Given the description of an element on the screen output the (x, y) to click on. 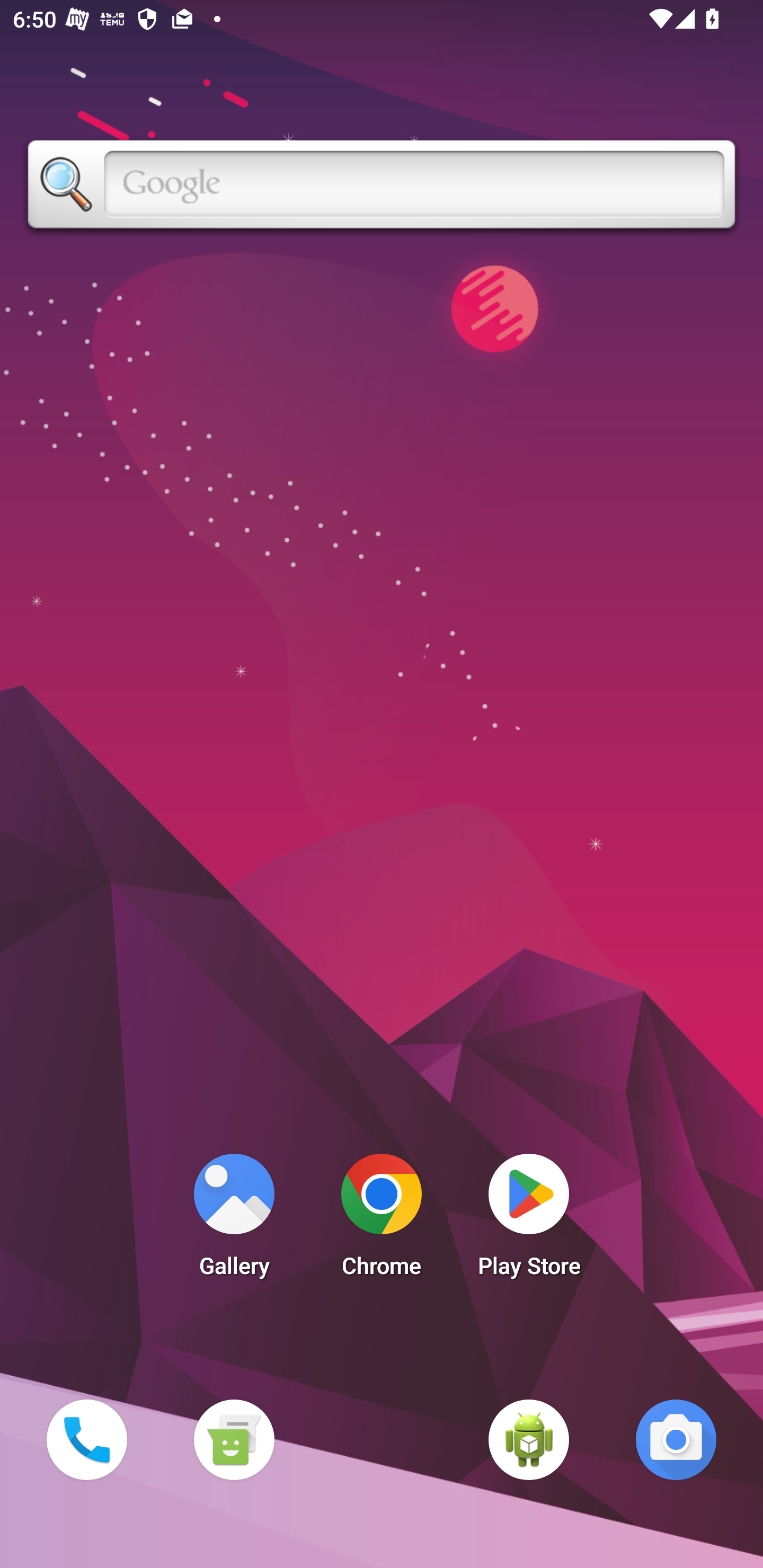
Gallery (233, 1220)
Chrome (381, 1220)
Play Store (528, 1220)
Phone (86, 1439)
Messaging (233, 1439)
WebView Browser Tester (528, 1439)
Camera (676, 1439)
